Given the description of an element on the screen output the (x, y) to click on. 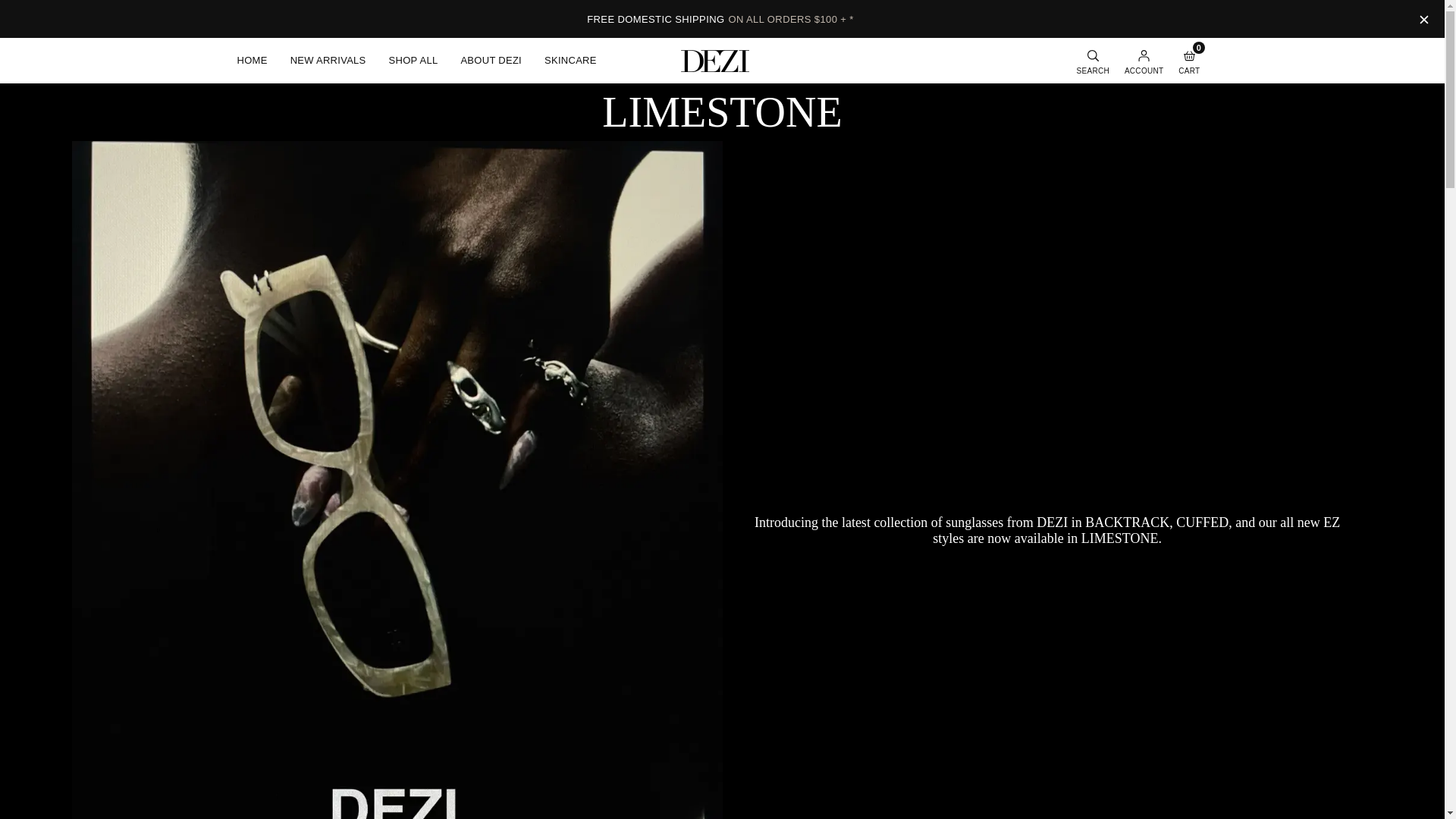
SEARCH (1092, 59)
SEARCH (1092, 59)
ABOUT DEZI (490, 60)
ACCOUNT (1143, 59)
DEZI (715, 60)
ACCOUNT (1143, 59)
SKINCARE (570, 60)
NEW ARRIVALS (328, 60)
SHOP ALL (413, 60)
HOME (252, 60)
